Given the description of an element on the screen output the (x, y) to click on. 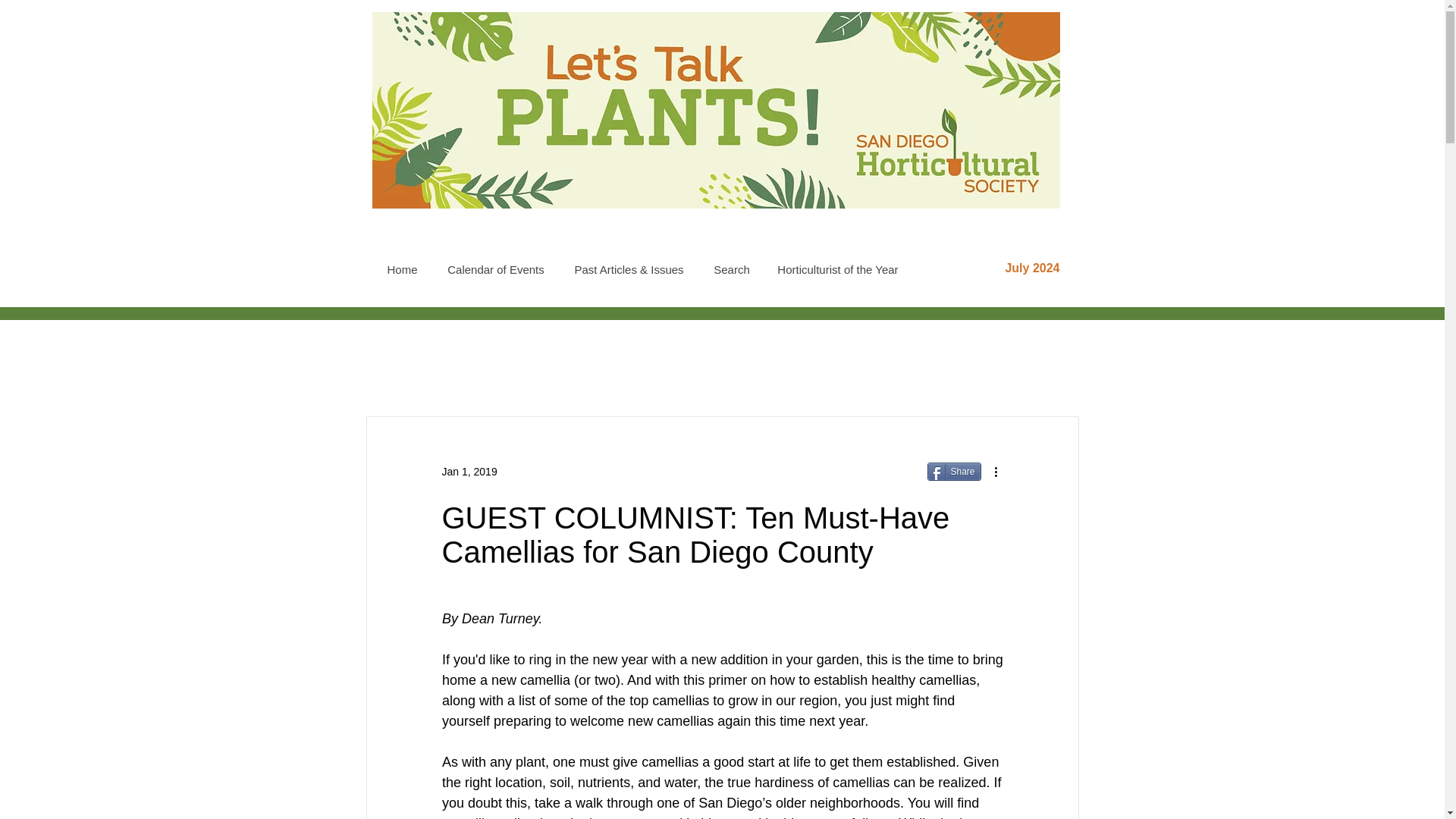
Site Search (972, 234)
Home (401, 269)
Share (952, 471)
Horticulturist of the Year (837, 269)
Search (731, 269)
Share (952, 471)
Calendar of Events (494, 269)
Jan 1, 2019 (468, 471)
